Given the description of an element on the screen output the (x, y) to click on. 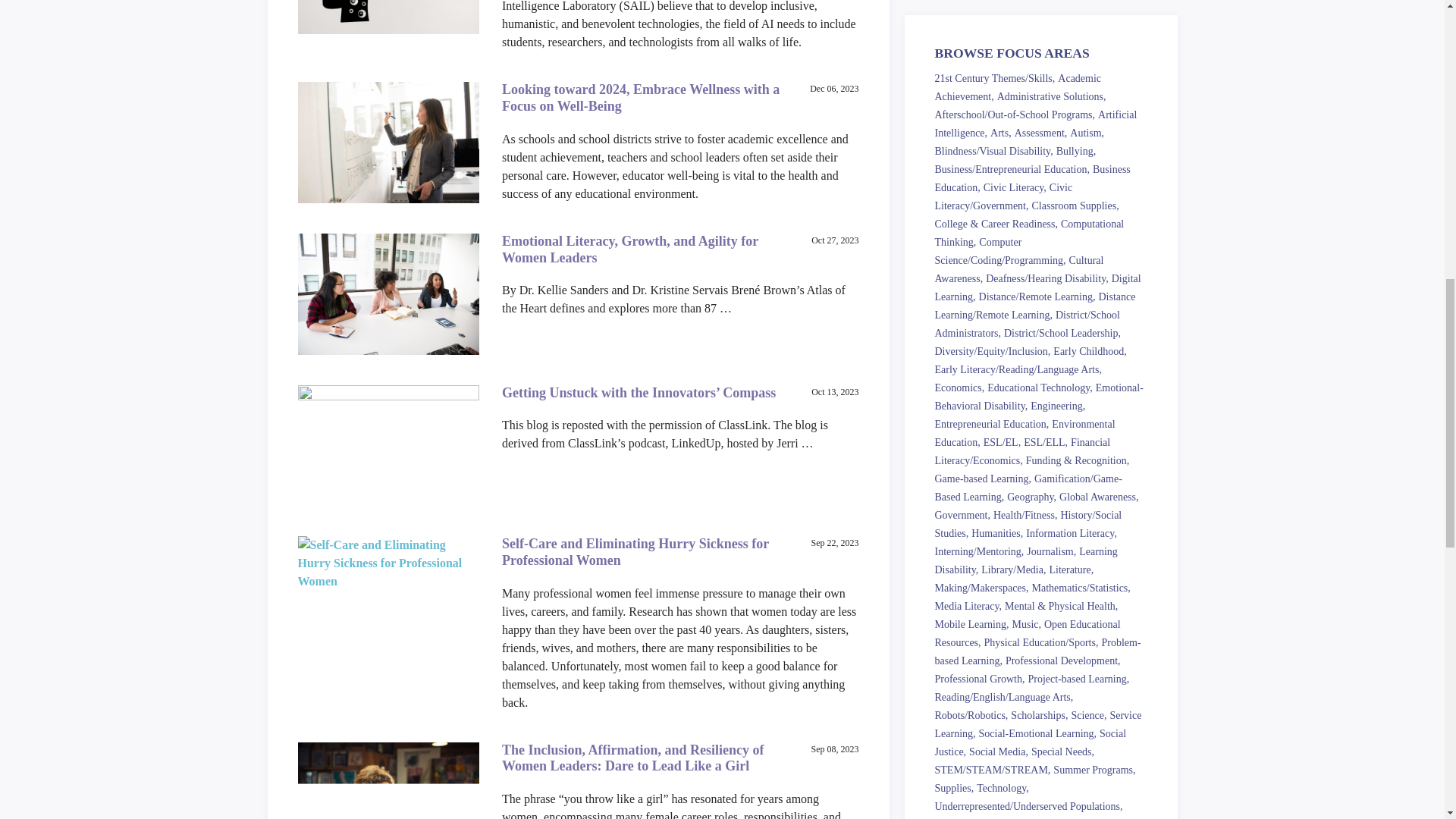
Emotional Literacy, Growth, and Agility for Women Leaders (630, 249)
